Given the description of an element on the screen output the (x, y) to click on. 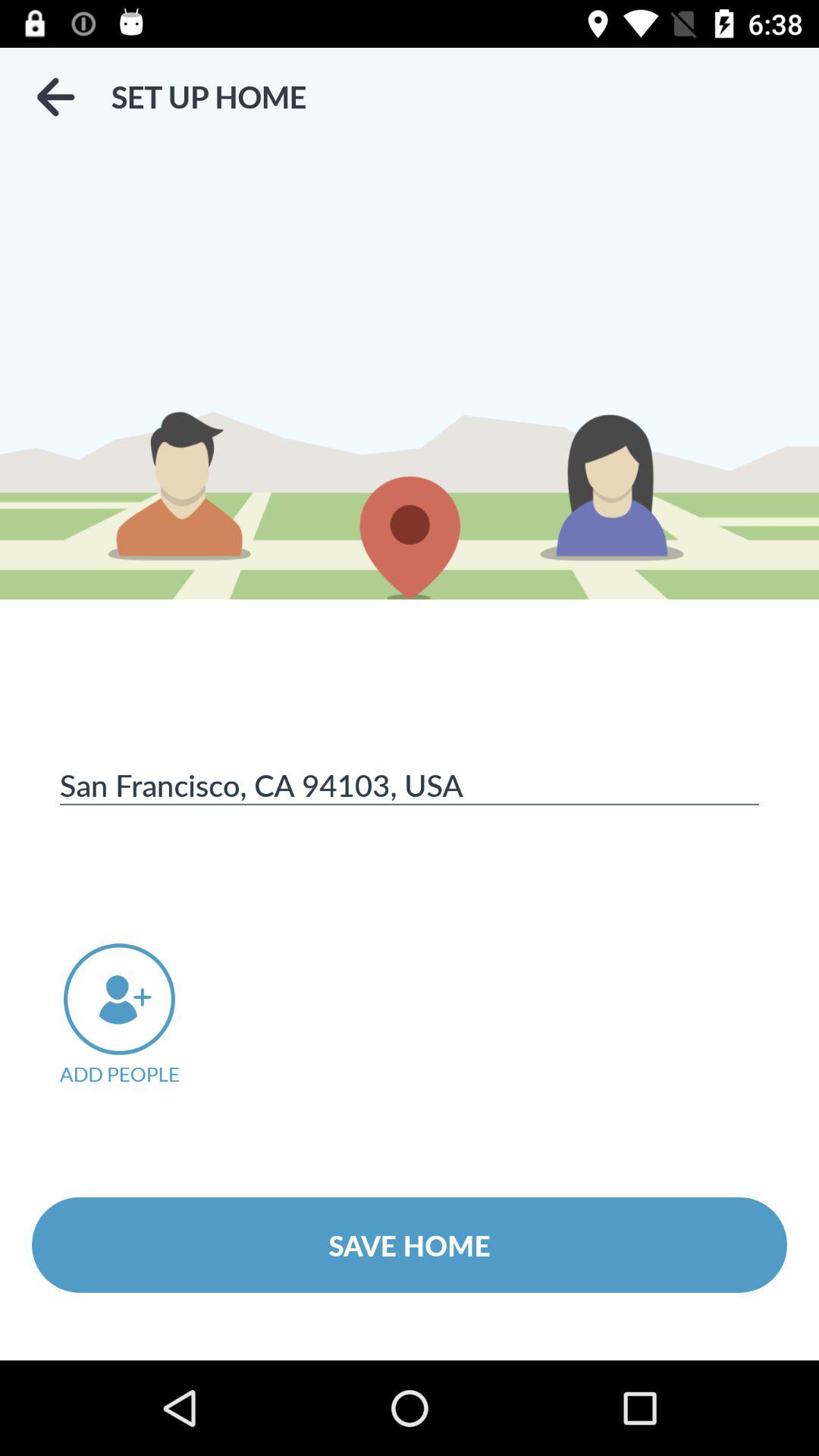
select item above add people (409, 784)
